Given the description of an element on the screen output the (x, y) to click on. 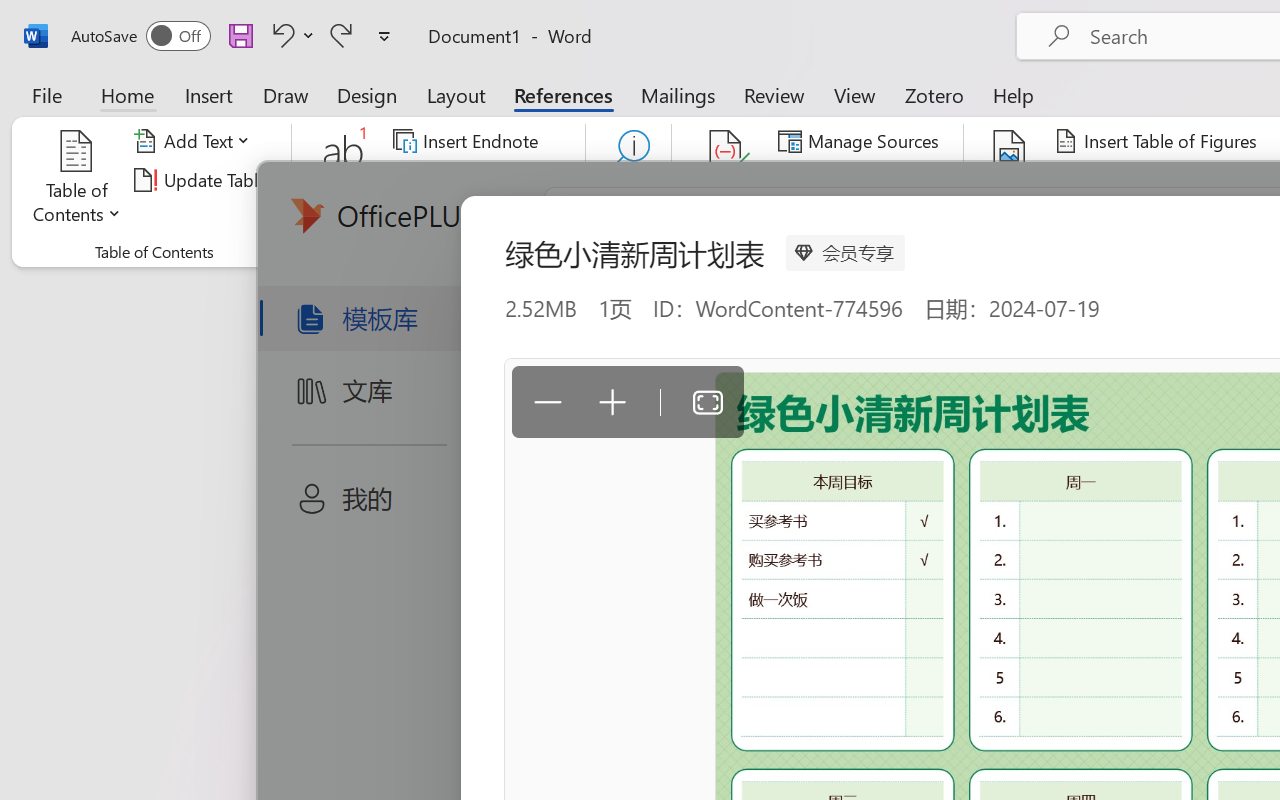
Redo Apply Quick Style (341, 35)
Style (901, 179)
Insert Citation (726, 179)
Update Table... (204, 179)
Insert Footnote (344, 179)
Cross-reference... (1133, 218)
